Given the description of an element on the screen output the (x, y) to click on. 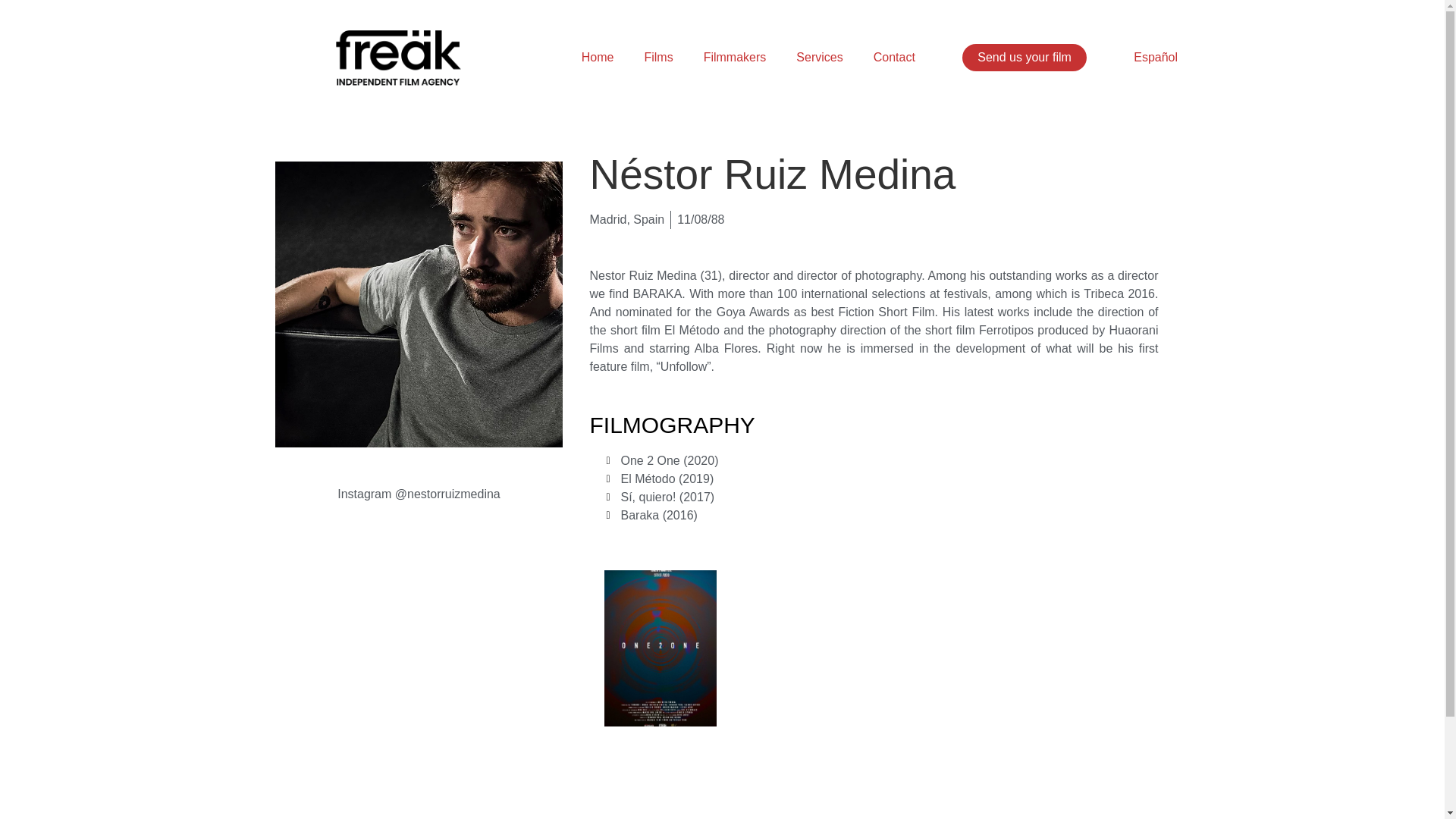
Home (597, 57)
Services (818, 57)
Send us your film (1024, 57)
Filmmakers (734, 57)
Films (657, 57)
Contact (894, 57)
